Given the description of an element on the screen output the (x, y) to click on. 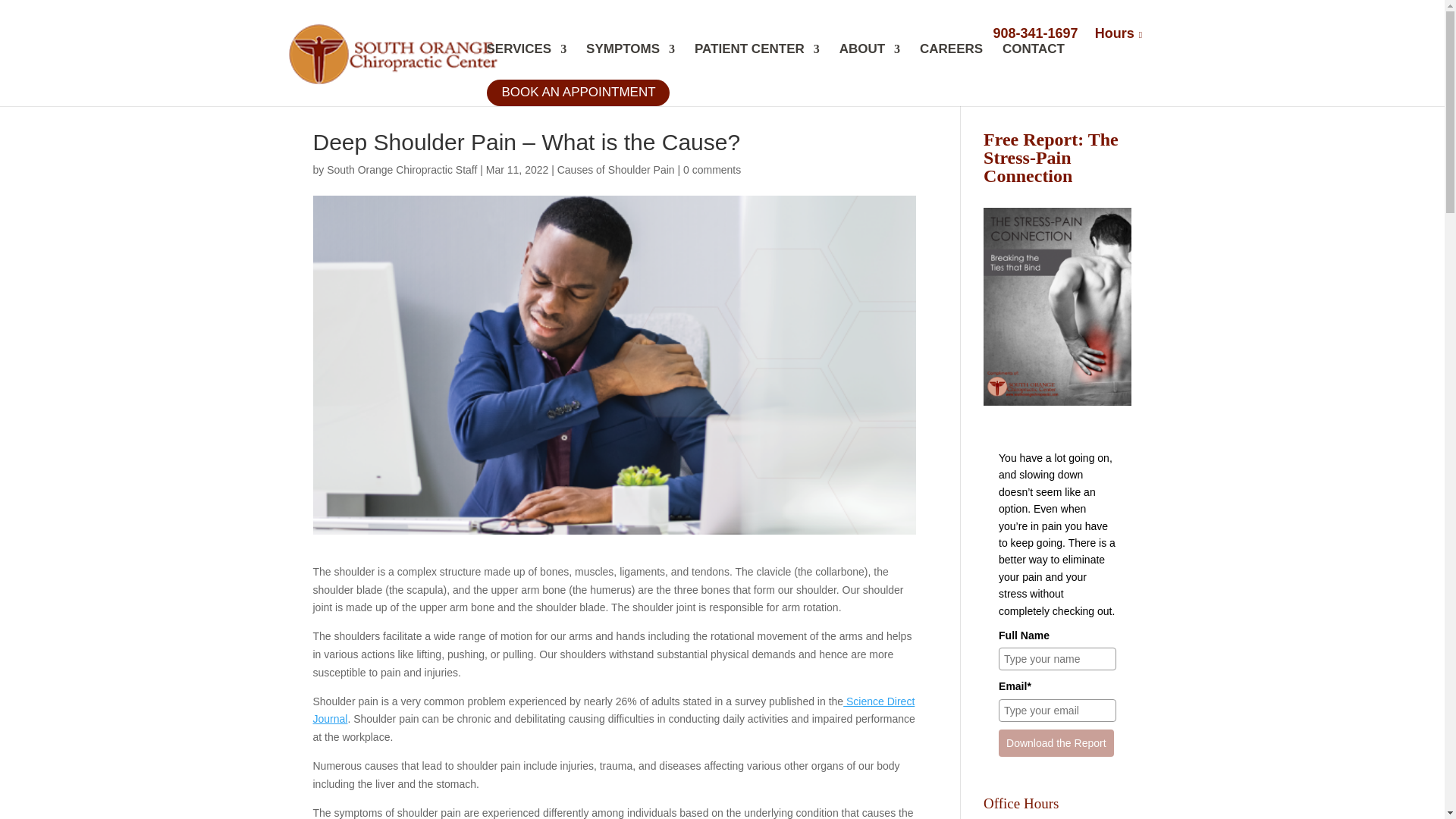
ABOUT (869, 61)
SYMPTOMS (630, 61)
CAREERS (951, 61)
BOOK AN APPOINTMENT (582, 104)
PATIENT CENTER (756, 61)
SERVICES (526, 61)
CONTACT (1033, 61)
Posts by South Orange Chiropractic Staff (401, 169)
